Given the description of an element on the screen output the (x, y) to click on. 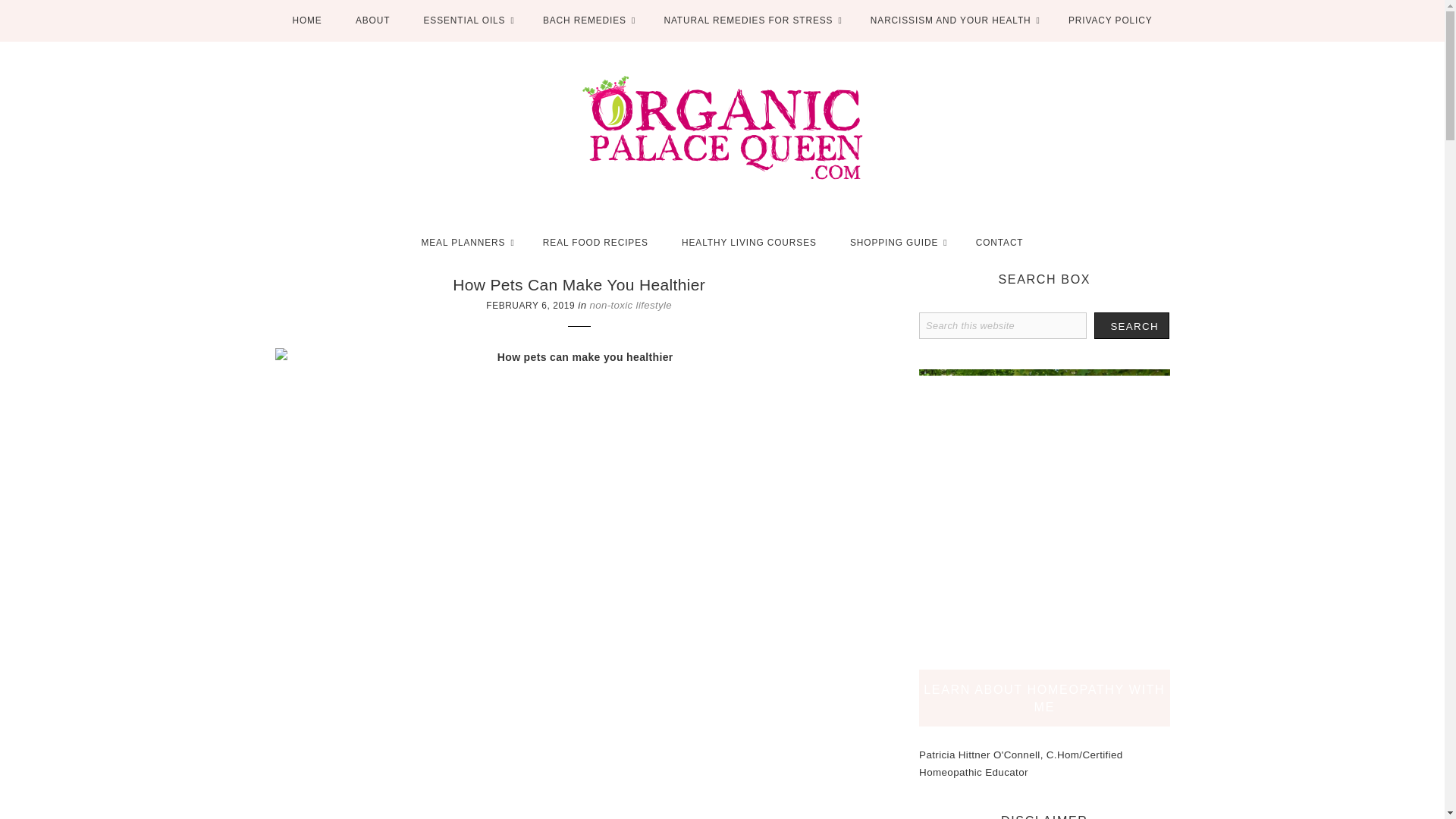
Search (1131, 231)
Natural Pain Management Strategies (1055, 705)
Search (1131, 231)
